Given the description of an element on the screen output the (x, y) to click on. 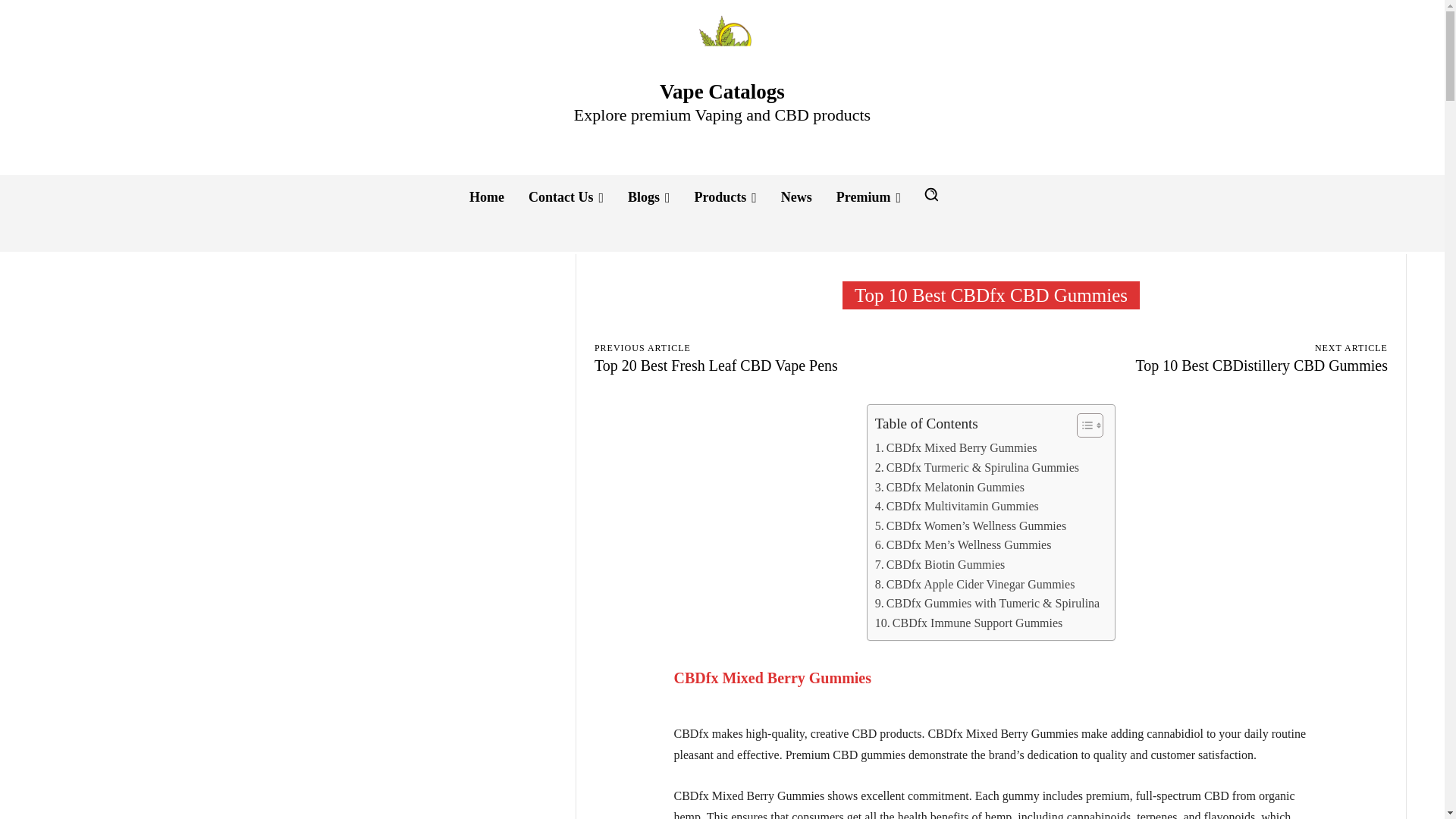
Home (486, 197)
Blogs (648, 197)
Vape Catalogs (722, 45)
CBDfx Mixed Berry Gummies (955, 447)
Premium (868, 197)
Products (725, 197)
Contact Us (565, 197)
News (796, 197)
